Given the description of an element on the screen output the (x, y) to click on. 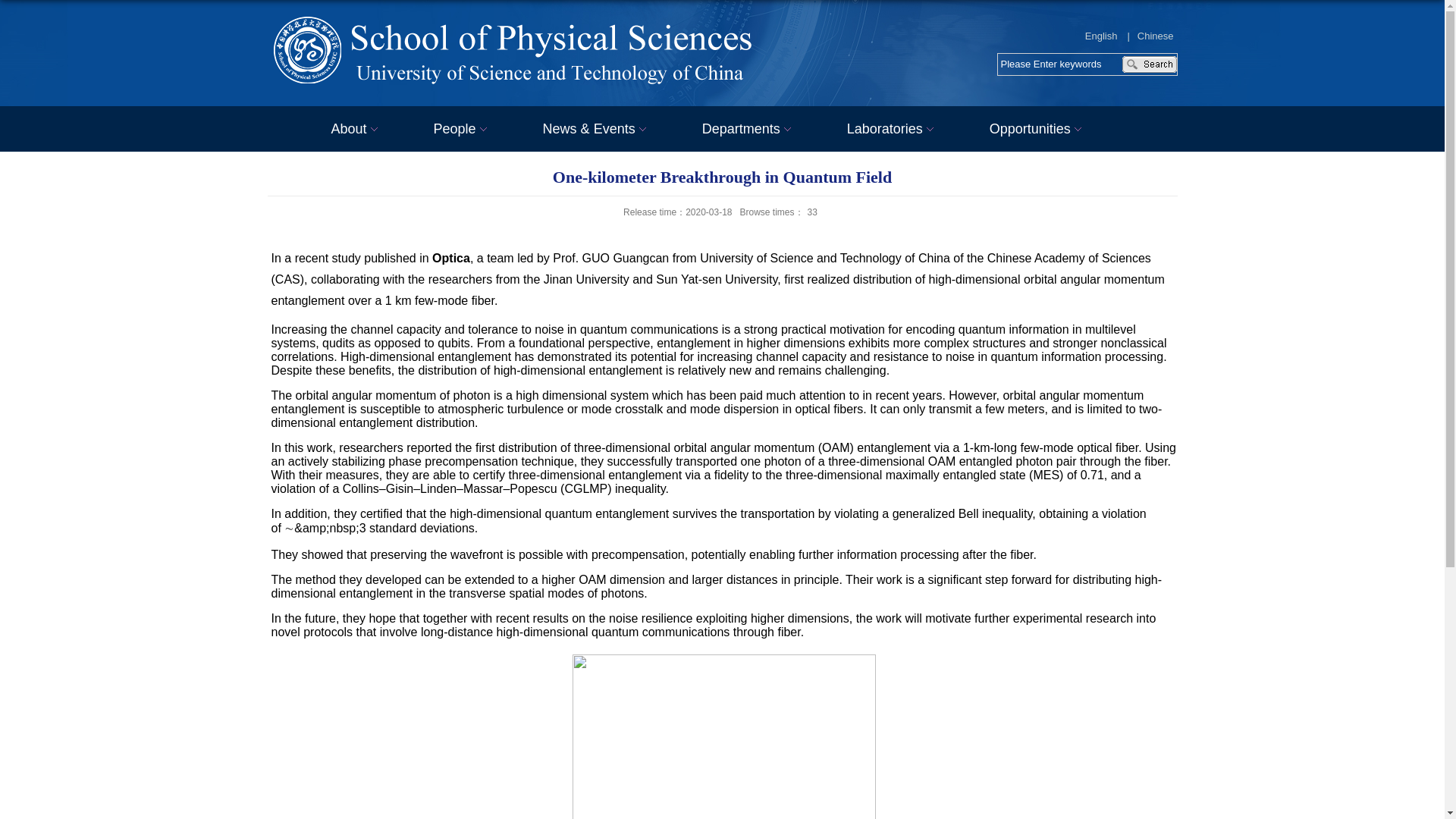
People (462, 128)
Laboratories (892, 128)
Departments (748, 128)
Chinese (1155, 35)
Opportunities (1037, 128)
About (355, 128)
Please Enter keywords (1061, 64)
